Given the description of an element on the screen output the (x, y) to click on. 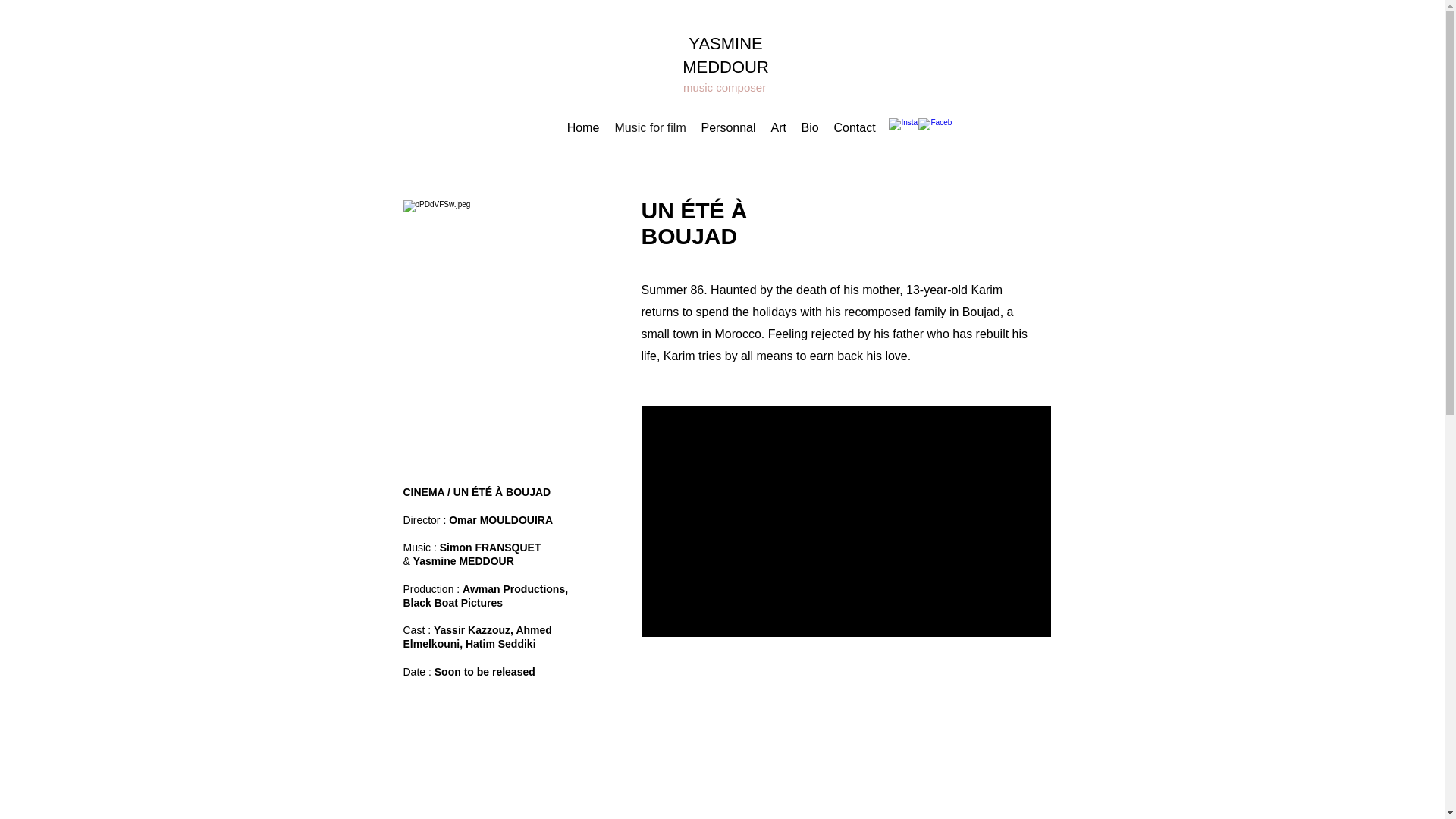
Music for film (650, 128)
Contact (853, 128)
Bio (809, 128)
Art (777, 128)
YASMINE MEDDOUR (725, 55)
Home (583, 128)
Personnal (727, 128)
